Given the description of an element on the screen output the (x, y) to click on. 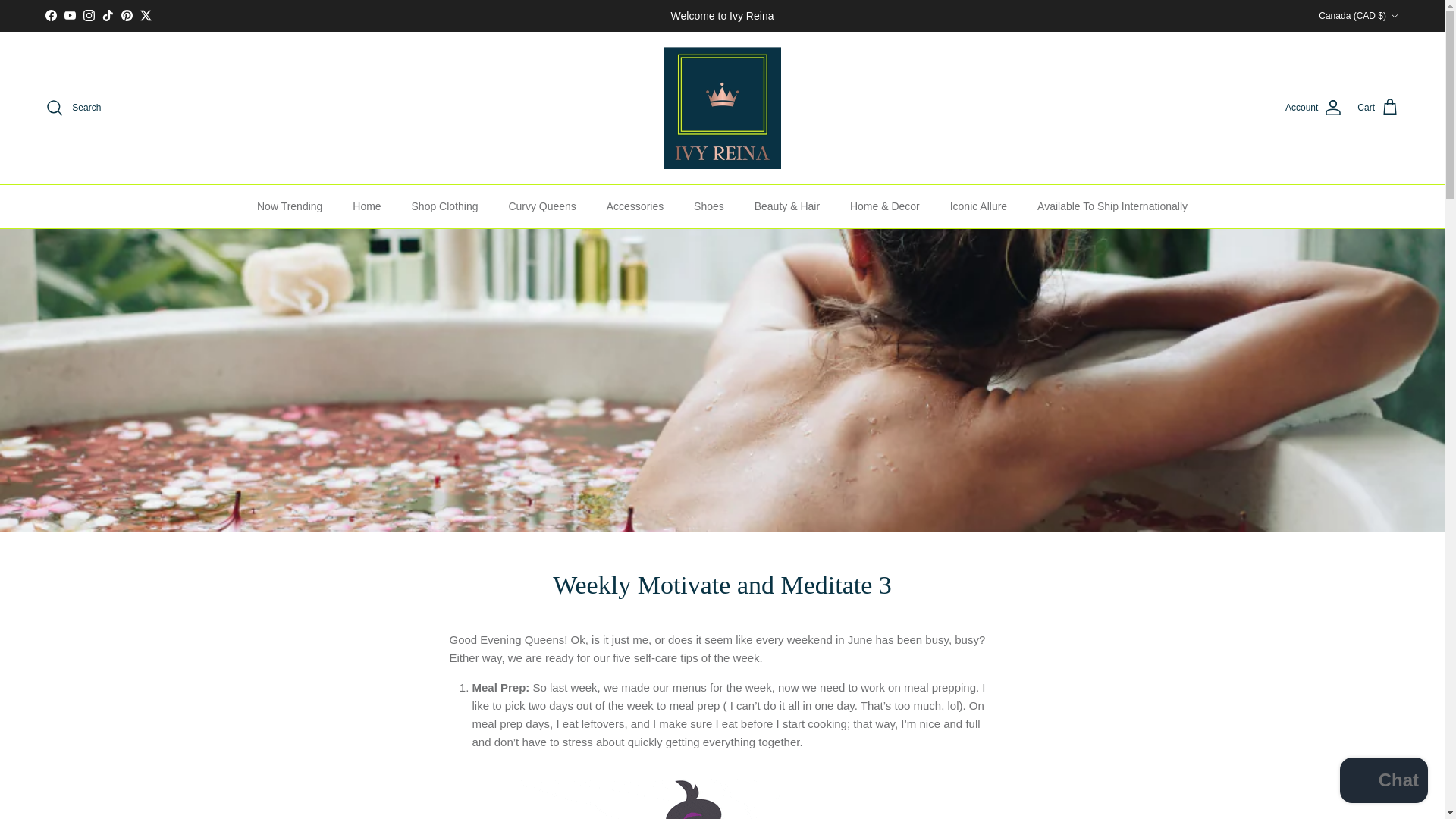
Search (72, 107)
Ivy Reina on YouTube (69, 15)
Ivy Reina on Facebook (50, 15)
Ivy Reina on TikTok (107, 15)
Ivy Reina on Instagram (88, 15)
Ivy Reina on Pinterest (126, 15)
Facebook (50, 15)
TikTok (107, 15)
Instagram (88, 15)
Twitter (145, 15)
Account (1313, 107)
Ivy Reina (721, 107)
YouTube (69, 15)
Ivy Reina on Twitter (145, 15)
Cart (1377, 107)
